Given the description of an element on the screen output the (x, y) to click on. 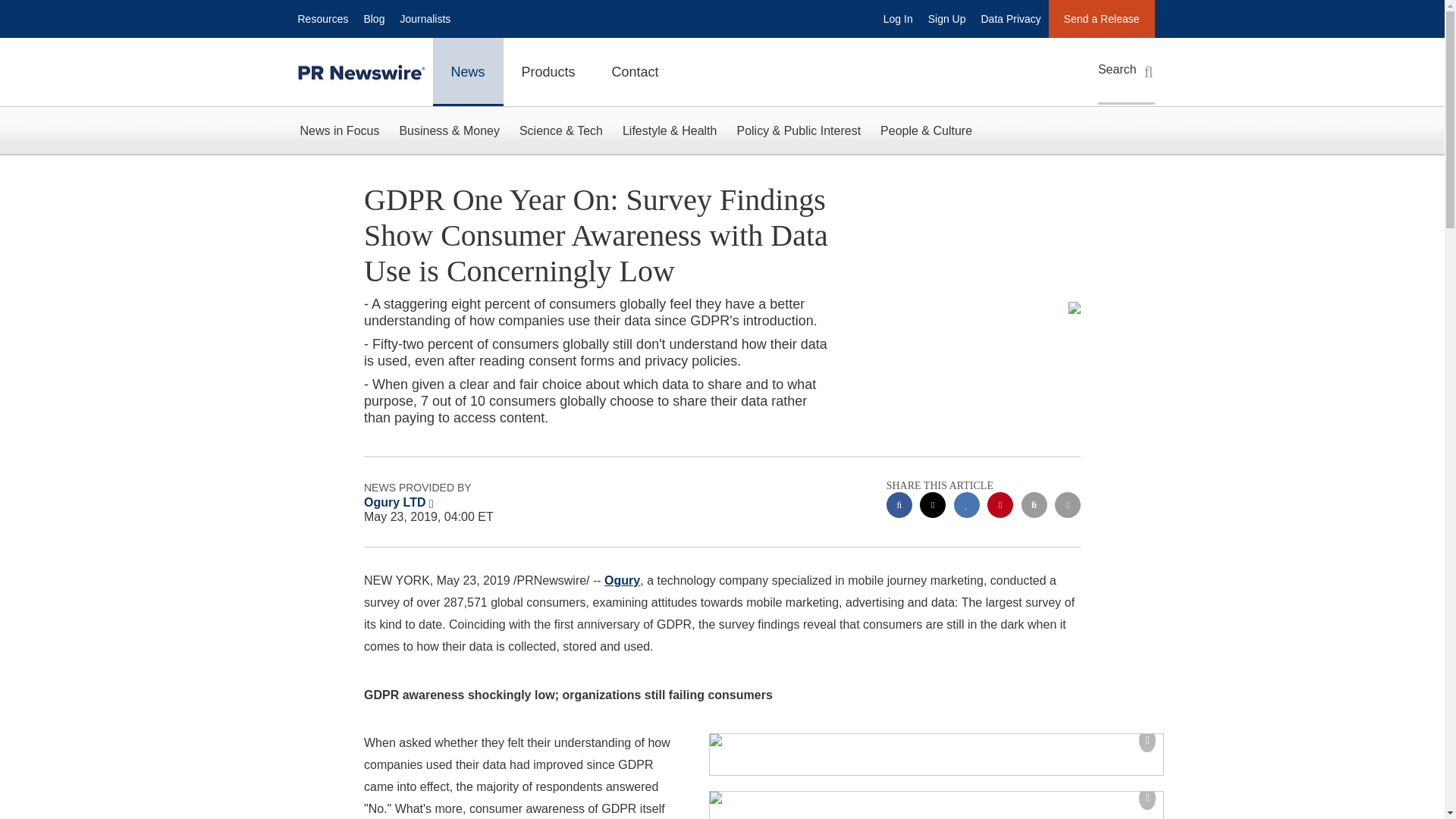
News in Focus (338, 130)
